Given the description of an element on the screen output the (x, y) to click on. 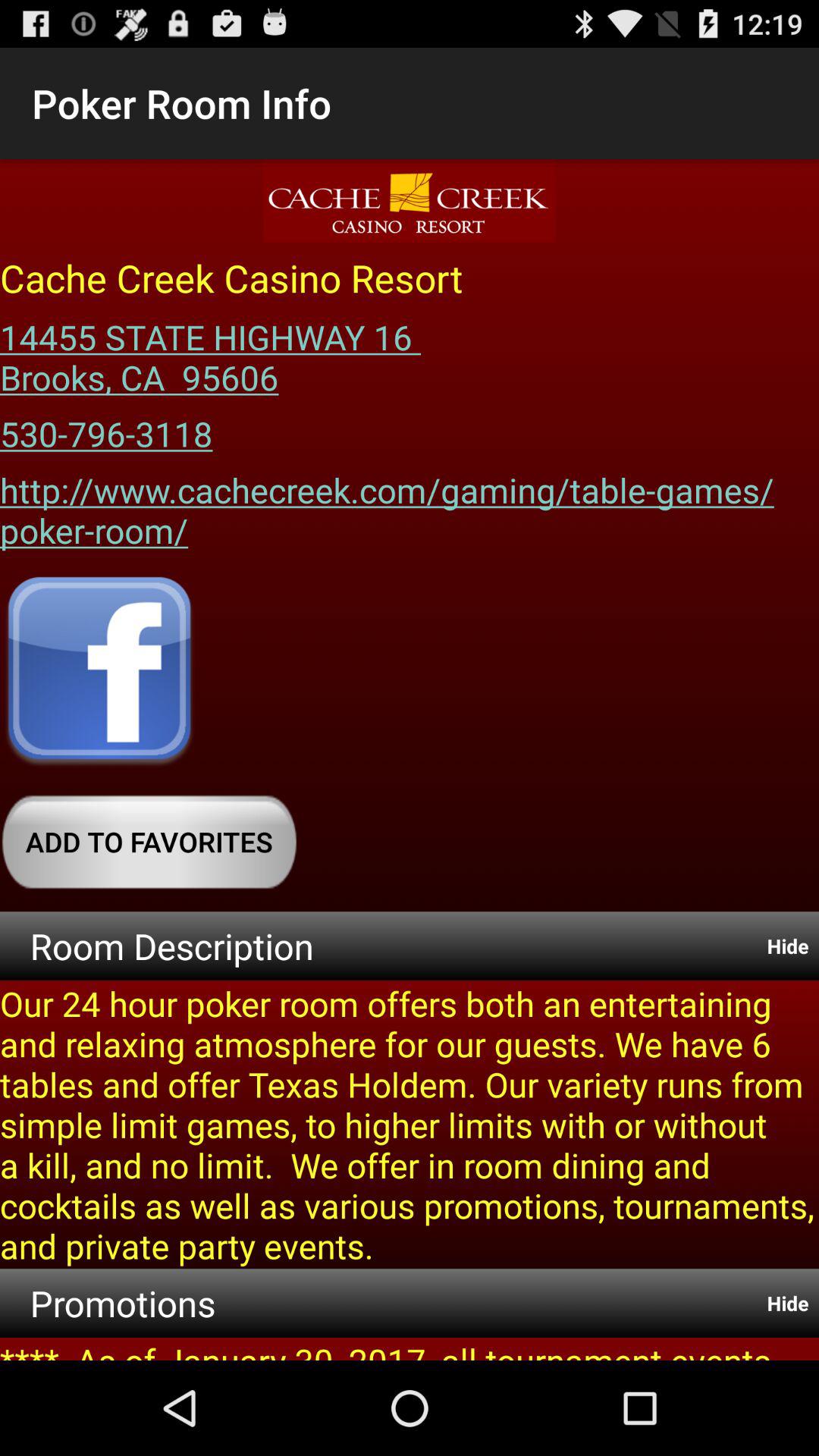
turn off icon below the 530-796-3118 (409, 504)
